Given the description of an element on the screen output the (x, y) to click on. 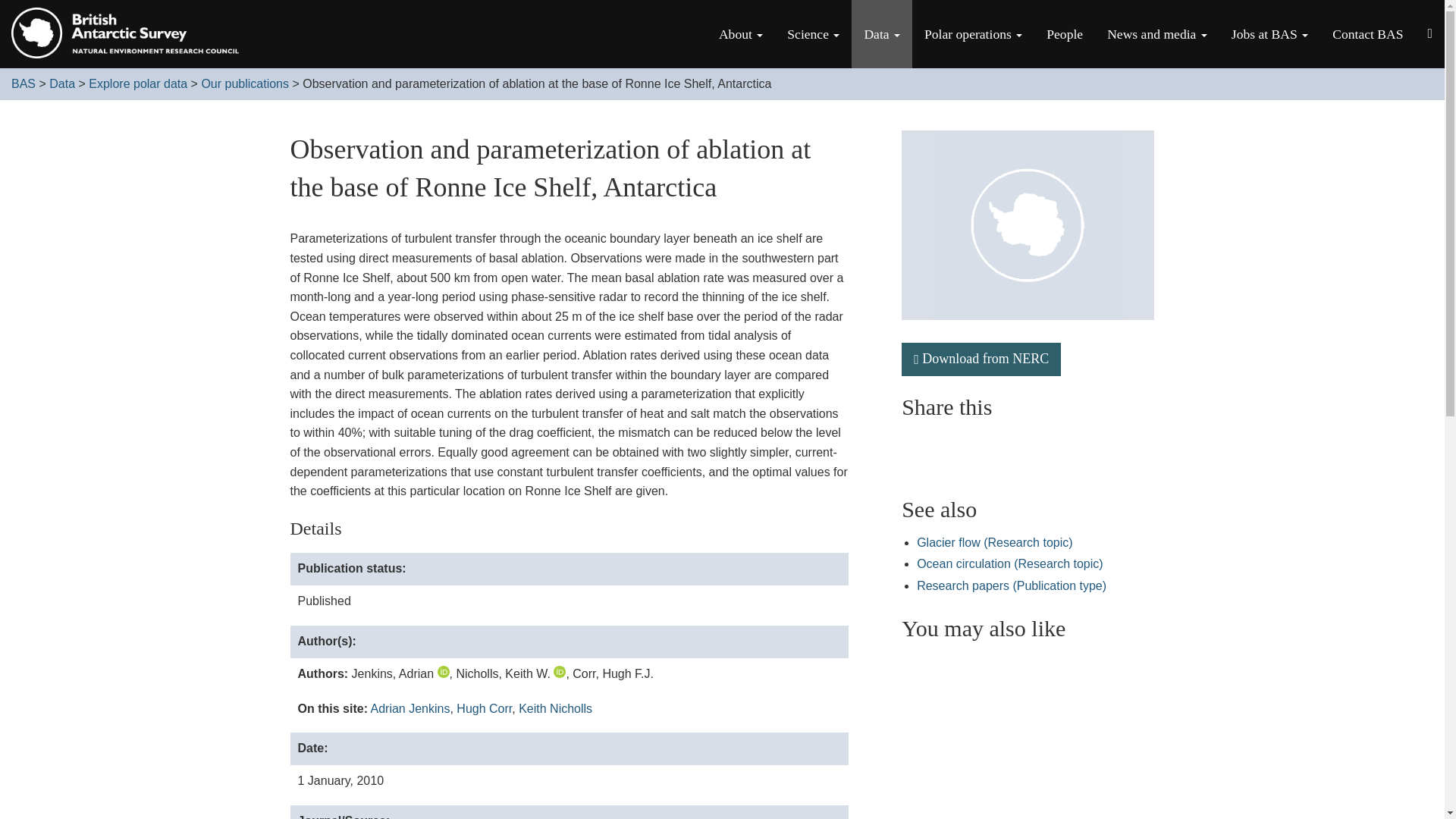
About (740, 33)
